Given the description of an element on the screen output the (x, y) to click on. 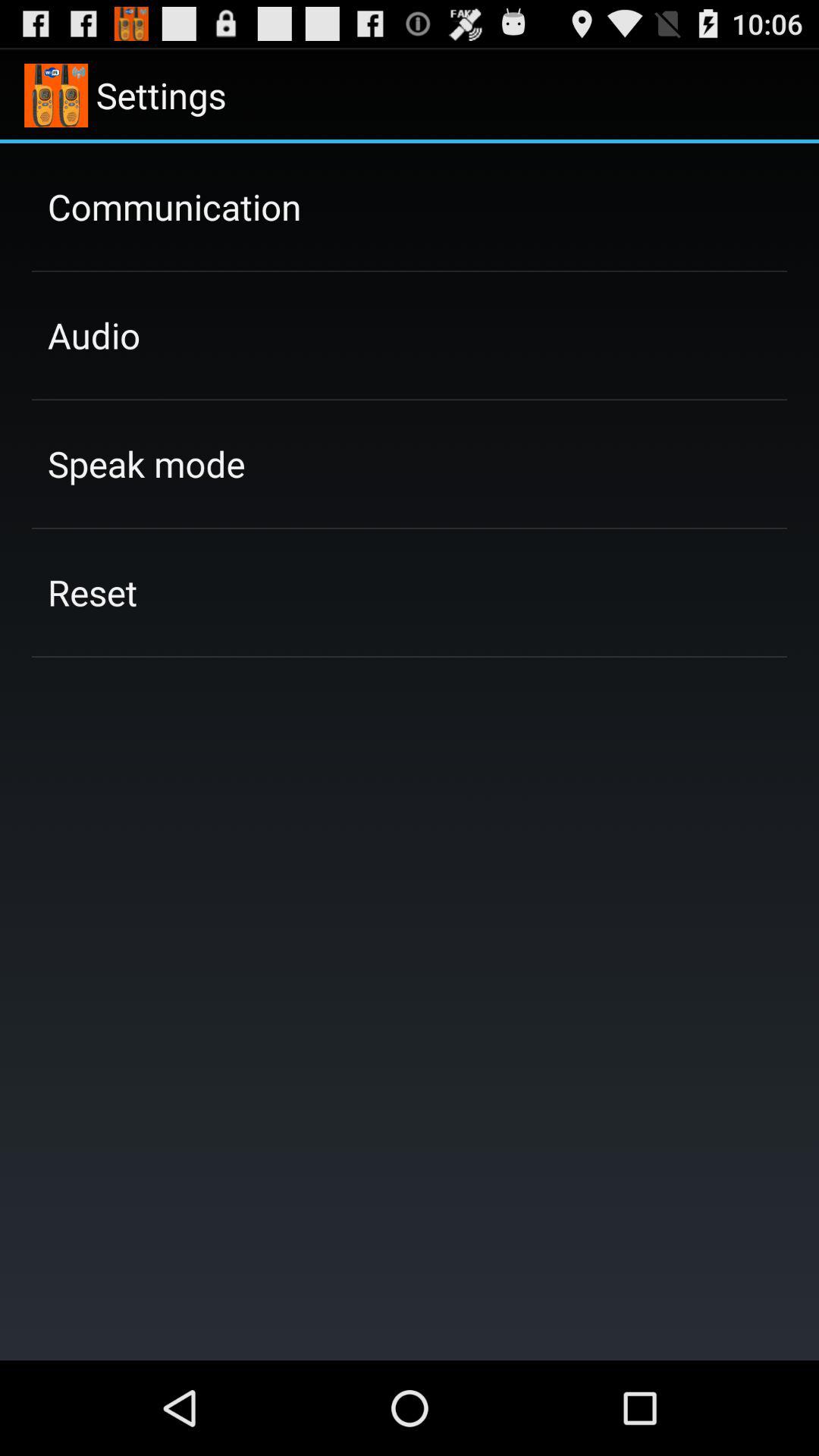
launch item below the communication (93, 335)
